Given the description of an element on the screen output the (x, y) to click on. 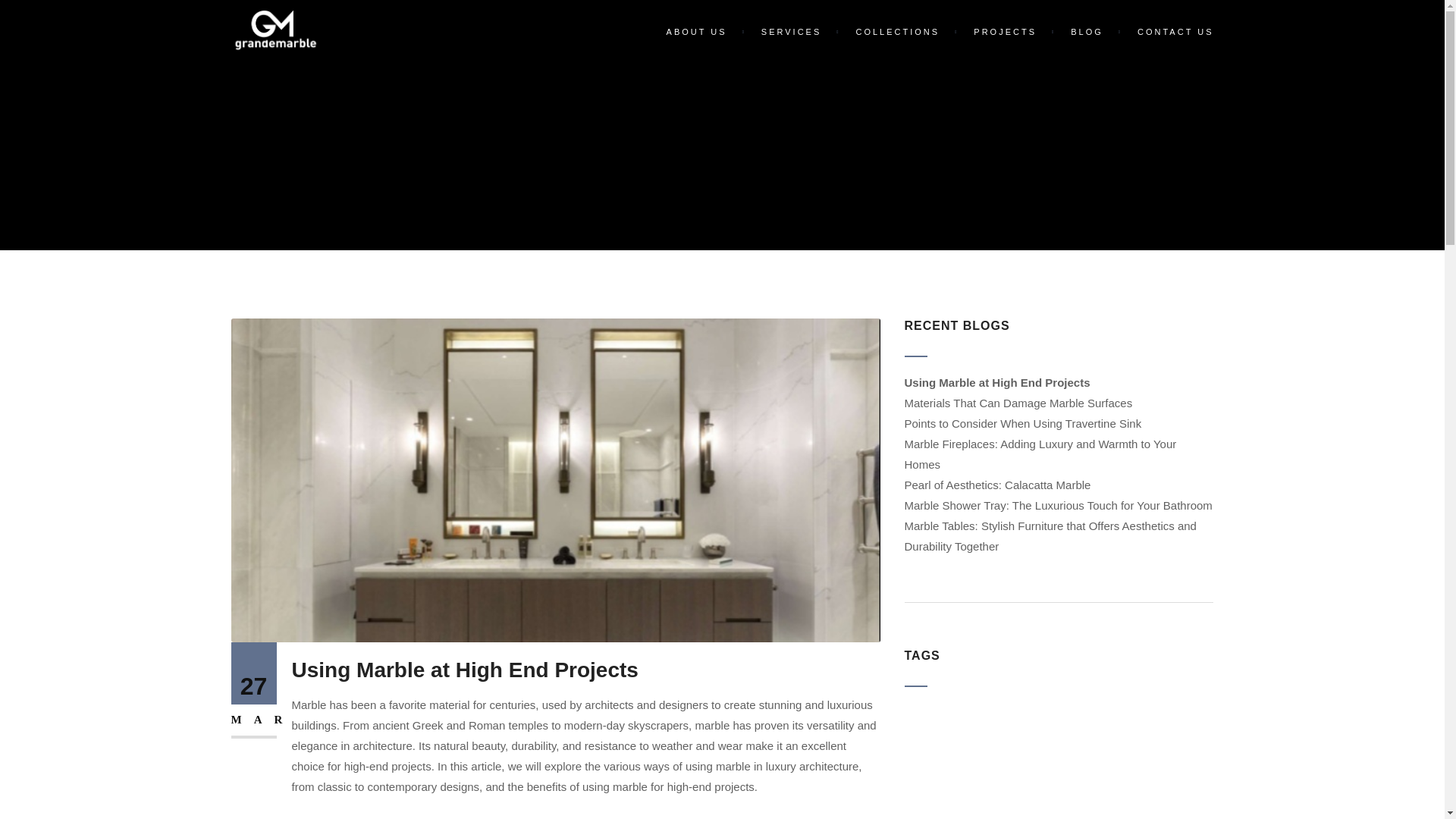
CONTACT US (1168, 32)
BLOG (1088, 32)
COLLECTIONS (899, 32)
Points to Consider When Using Travertine Sink (1022, 422)
SERVICES (793, 32)
Pearl of Aesthetics: Calacatta Marble (997, 484)
Materials That Can Damage Marble Surfaces (1018, 402)
PROJECTS (1006, 32)
Marble Shower Tray: The Luxurious Touch for Your Bathroom (1057, 504)
